Given the description of an element on the screen output the (x, y) to click on. 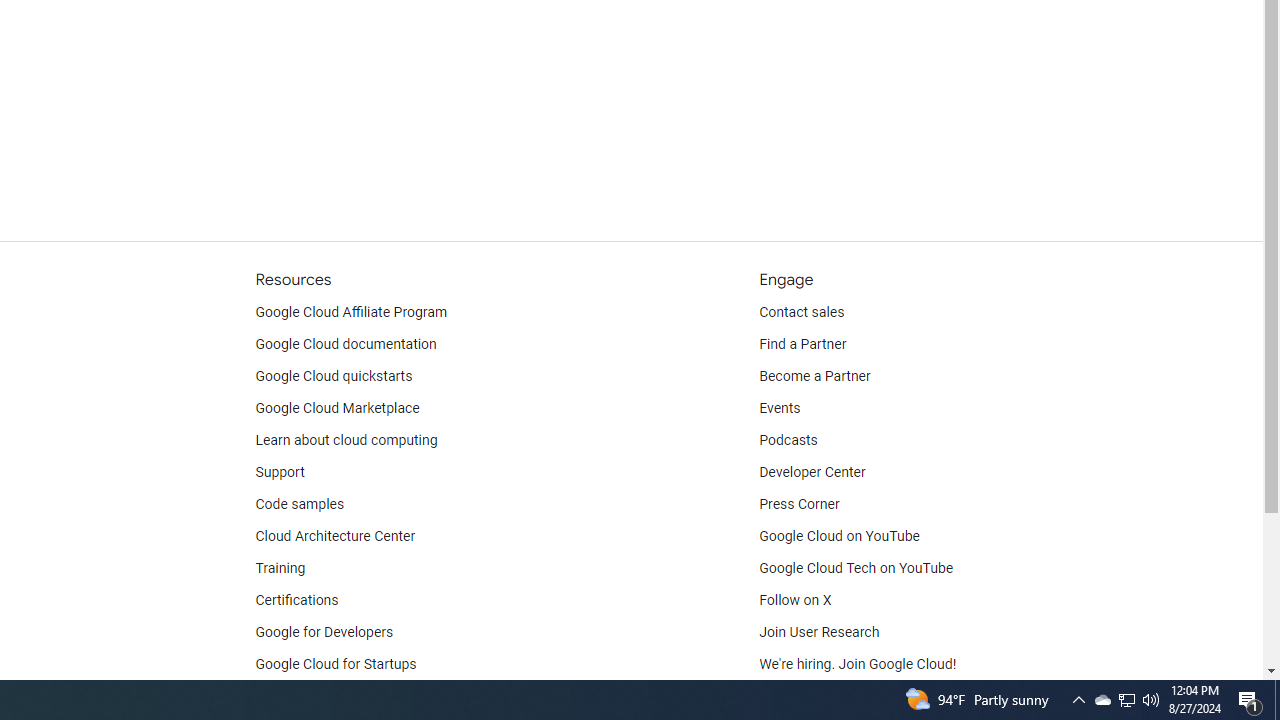
We're hiring. Join Google Cloud! (858, 664)
Press Corner (799, 504)
Google Cloud on YouTube (839, 536)
Follow on X (795, 600)
Code samples (299, 504)
Join User Research (819, 632)
Support (279, 472)
Learn about cloud computing (345, 440)
Google Cloud documentation (345, 344)
Google Cloud quickstarts (333, 376)
Certifications (296, 600)
Events (780, 408)
Become a Partner (814, 376)
Google Cloud for Startups (335, 664)
